Given the description of an element on the screen output the (x, y) to click on. 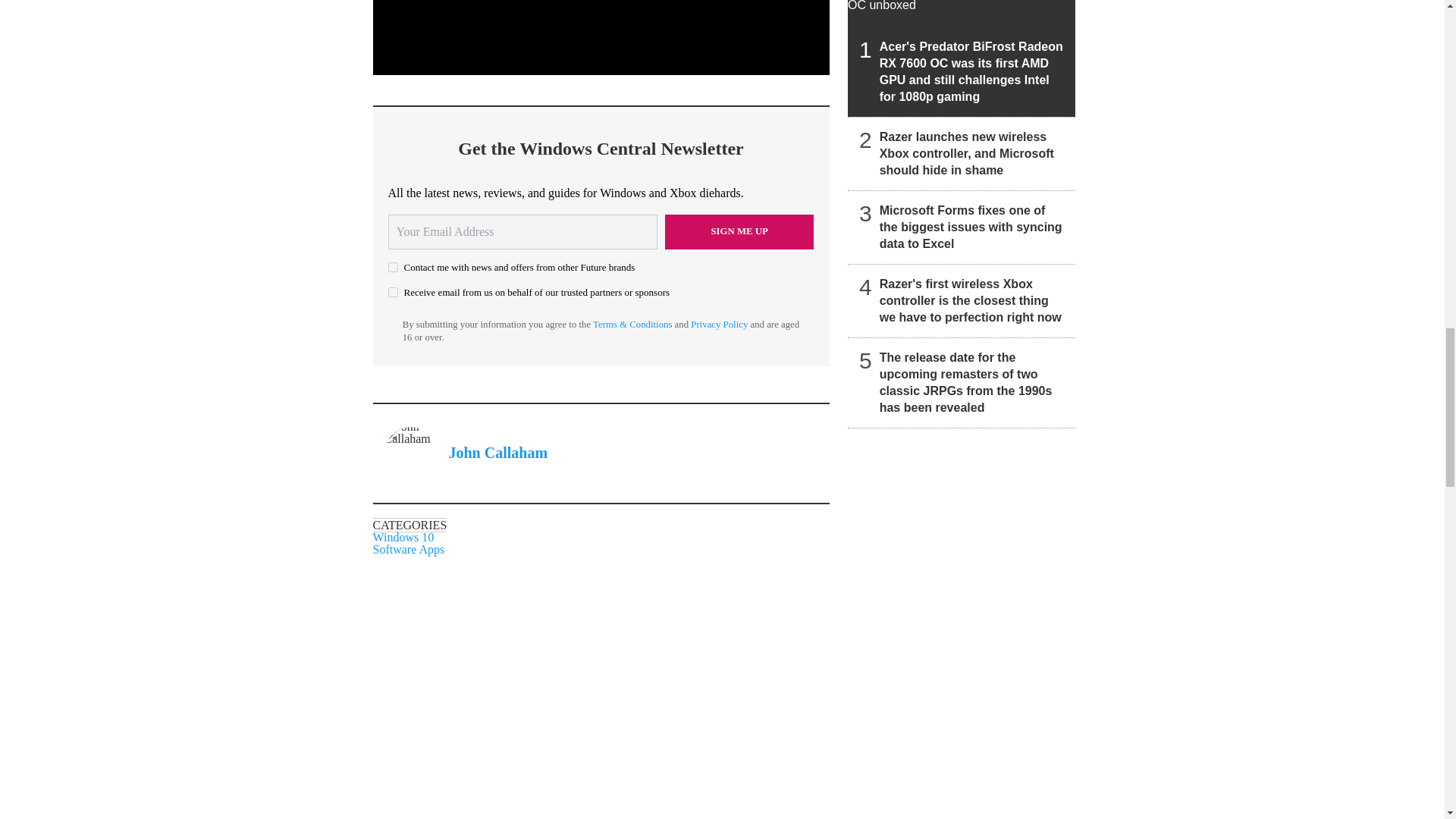
on (392, 266)
Privacy Policy (719, 324)
John Callaham (498, 452)
Windows 10 (402, 536)
Sign me up (739, 231)
Software Apps (408, 549)
Sign me up (739, 231)
on (392, 292)
